Given the description of an element on the screen output the (x, y) to click on. 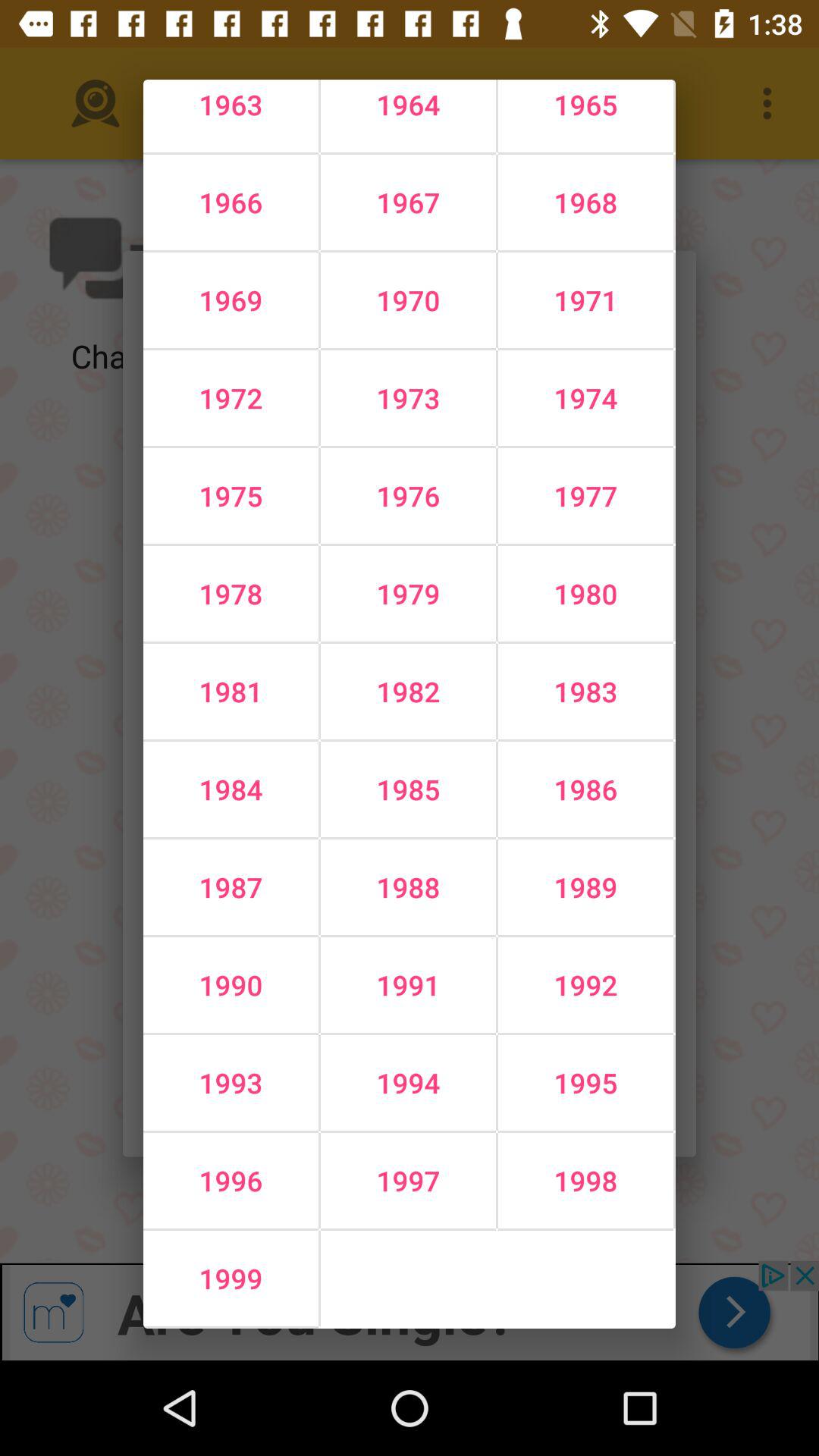
click the 1994 (407, 1082)
